Given the description of an element on the screen output the (x, y) to click on. 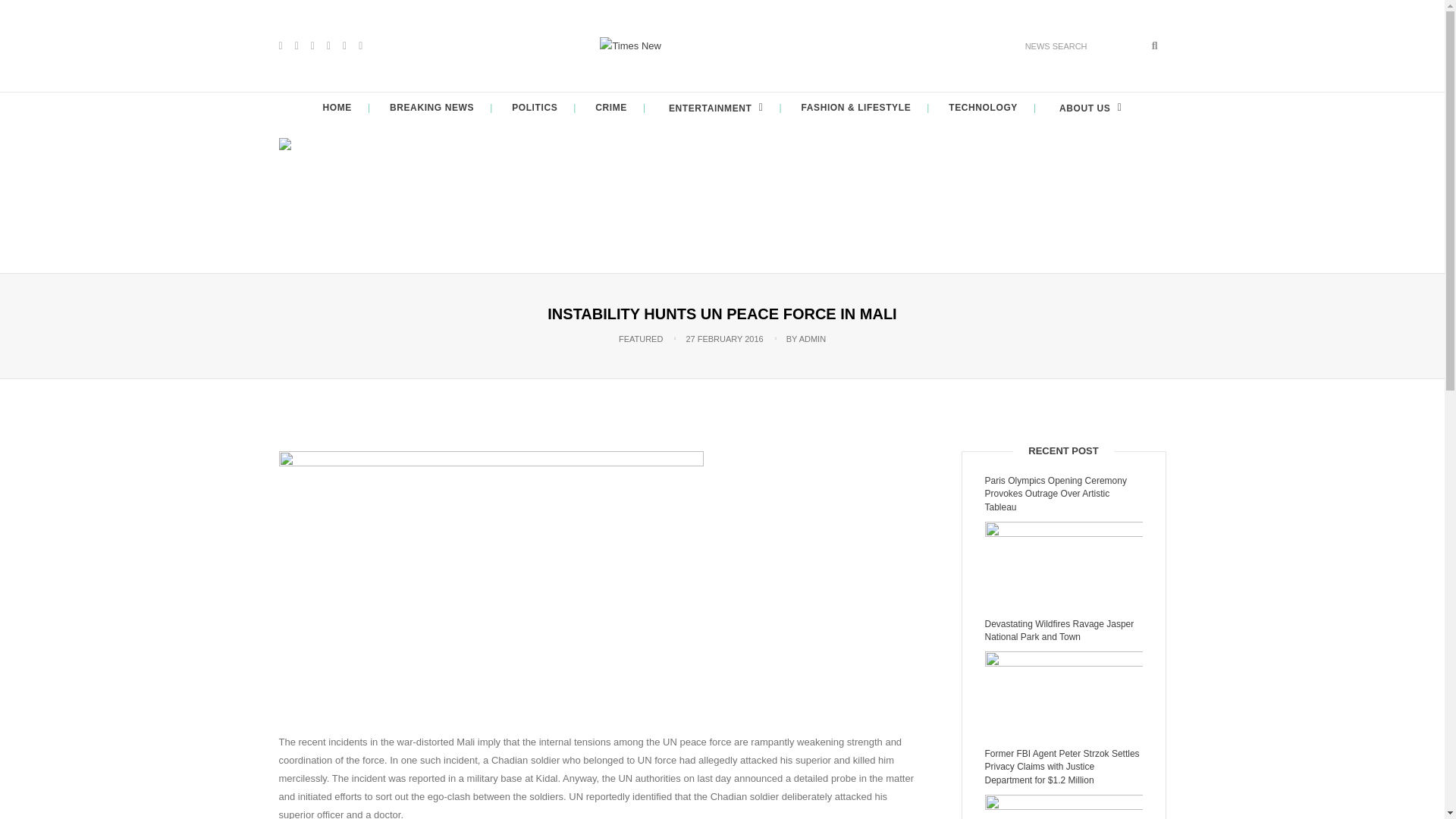
ADMIN (812, 338)
CRIME (611, 107)
ABOUT US (1088, 107)
BREAKING NEWS (432, 107)
FEATURED (640, 338)
POLITICS (534, 107)
ENTERTAINMENT (714, 107)
HOME (337, 107)
TECHNOLOGY (983, 107)
